Given the description of an element on the screen output the (x, y) to click on. 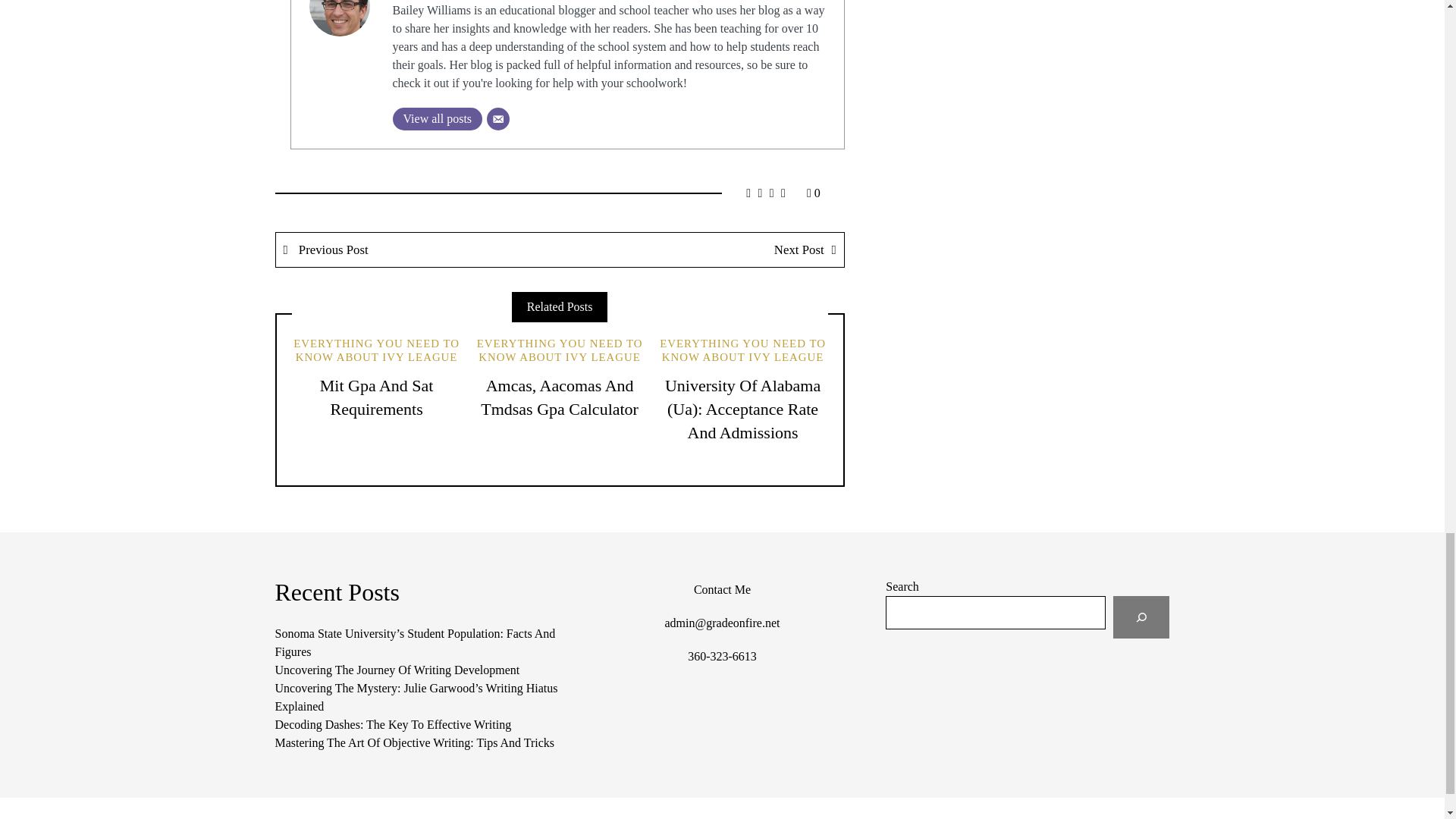
Next Post (701, 249)
Amcas, Aacomas And Tmdsas Gpa Calculator (559, 396)
Amcas, Aacomas And Tmdsas Gpa Calculator (559, 396)
View all posts (438, 118)
0 (813, 192)
View all posts (438, 118)
Decoding Dashes: The Key To Effective Writing (393, 724)
Mastering The Art Of Objective Writing: Tips And Tricks (414, 742)
Mit Gpa And Sat Requirements (376, 396)
Previous Post (418, 249)
